Given the description of an element on the screen output the (x, y) to click on. 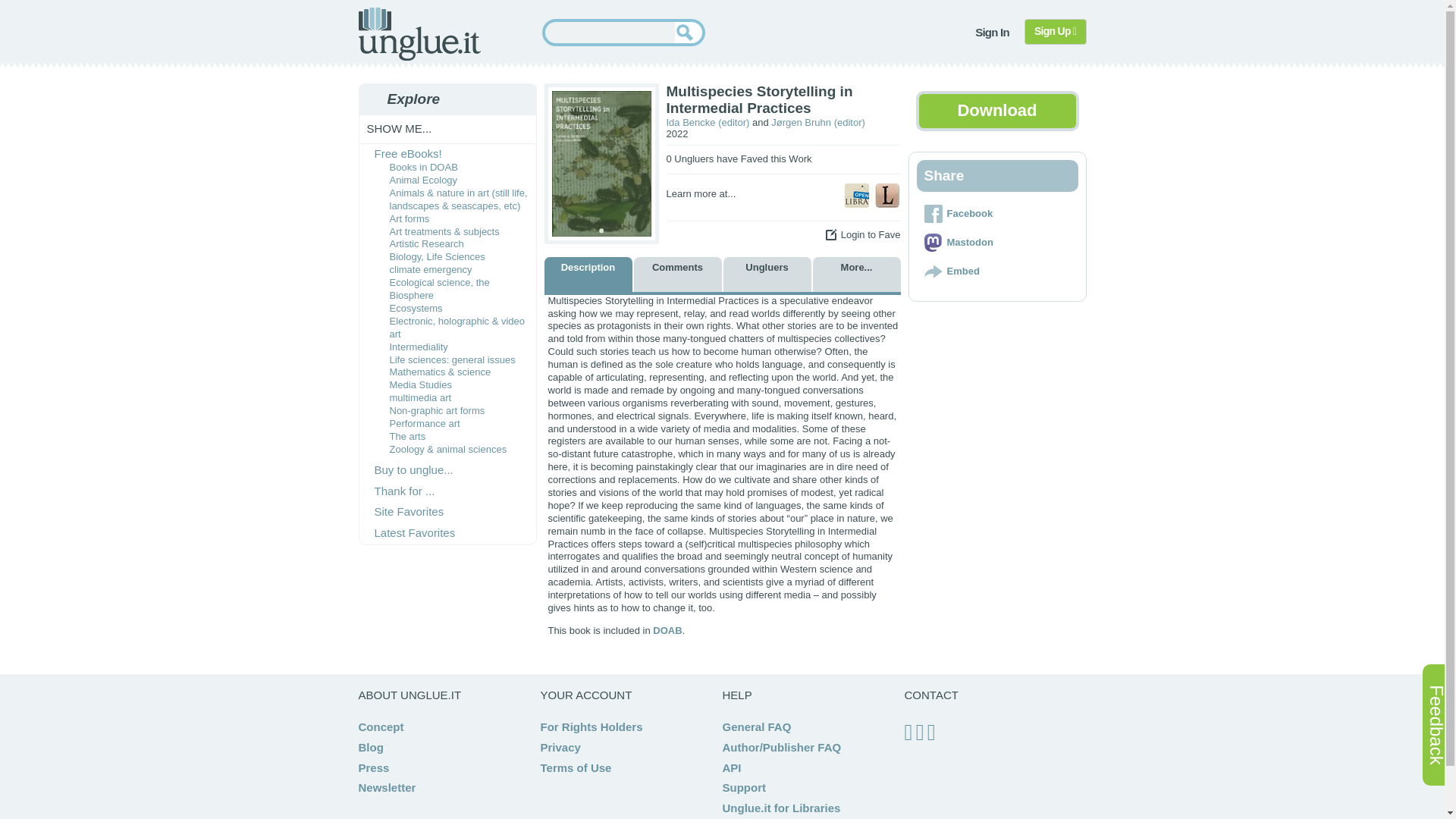
unglue.it (419, 33)
Sign Up (1055, 31)
The arts (408, 436)
Description (587, 274)
Ecological science, the Biosphere (439, 288)
Thank for ... (404, 490)
Non-graphic art forms (437, 410)
Media Studies (420, 384)
Comments (677, 274)
multimedia art (420, 397)
